Given the description of an element on the screen output the (x, y) to click on. 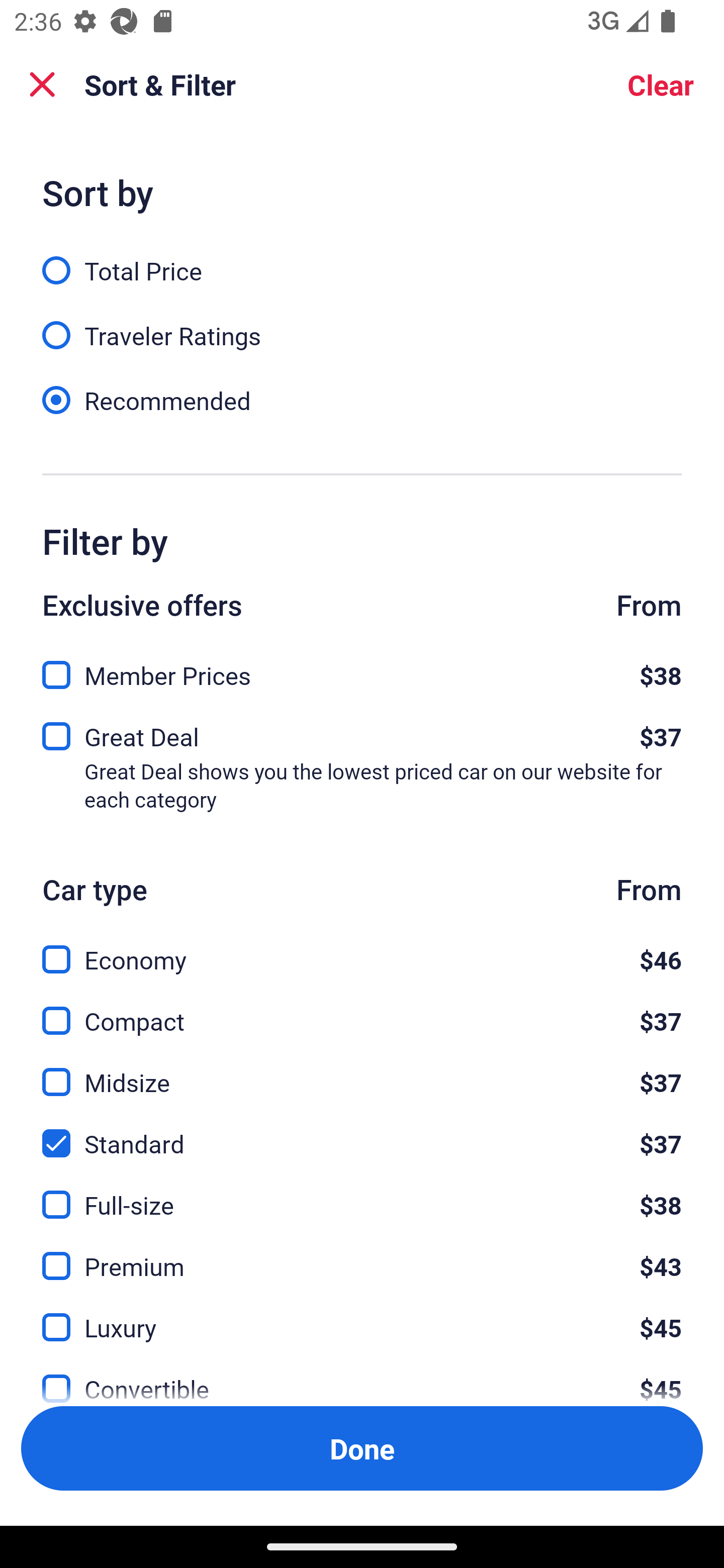
Close Sort and Filter (42, 84)
Clear (660, 84)
Total Price (361, 259)
Traveler Ratings (361, 324)
Member Prices, $38 Member Prices $38 (361, 669)
Economy, $46 Economy $46 (361, 947)
Compact, $37 Compact $37 (361, 1008)
Midsize, $37 Midsize $37 (361, 1070)
Standard, $37 Standard $37 (361, 1132)
Full-size, $38 Full-size $38 (361, 1193)
Premium, $43 Premium $43 (361, 1254)
Luxury, $45 Luxury $45 (361, 1315)
Convertible, $45 Convertible $45 (361, 1376)
Apply and close Sort and Filter Done (361, 1448)
